Given the description of an element on the screen output the (x, y) to click on. 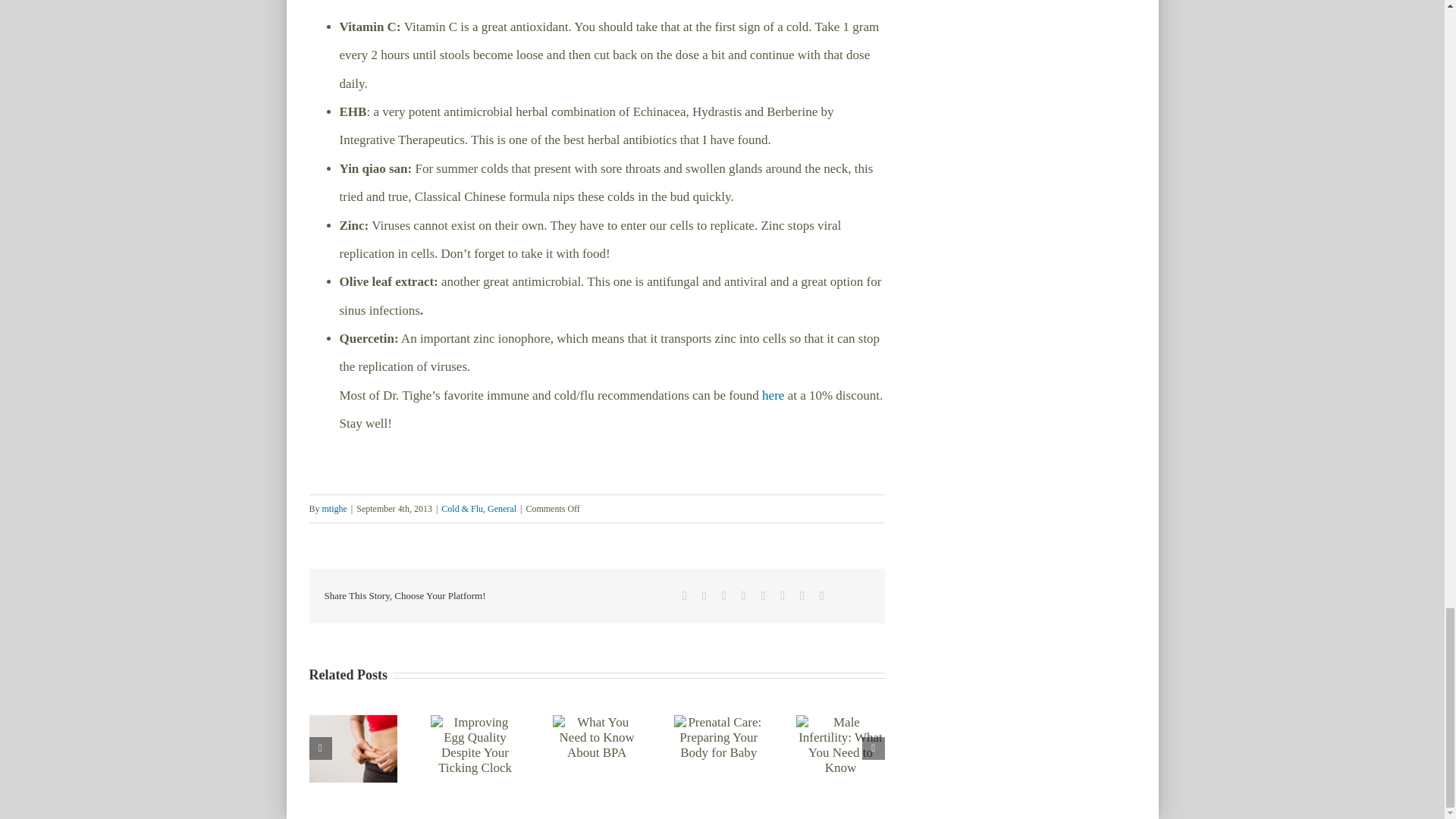
here (772, 395)
mtighe (334, 508)
Posts by mtighe (334, 508)
General (501, 508)
